Given the description of an element on the screen output the (x, y) to click on. 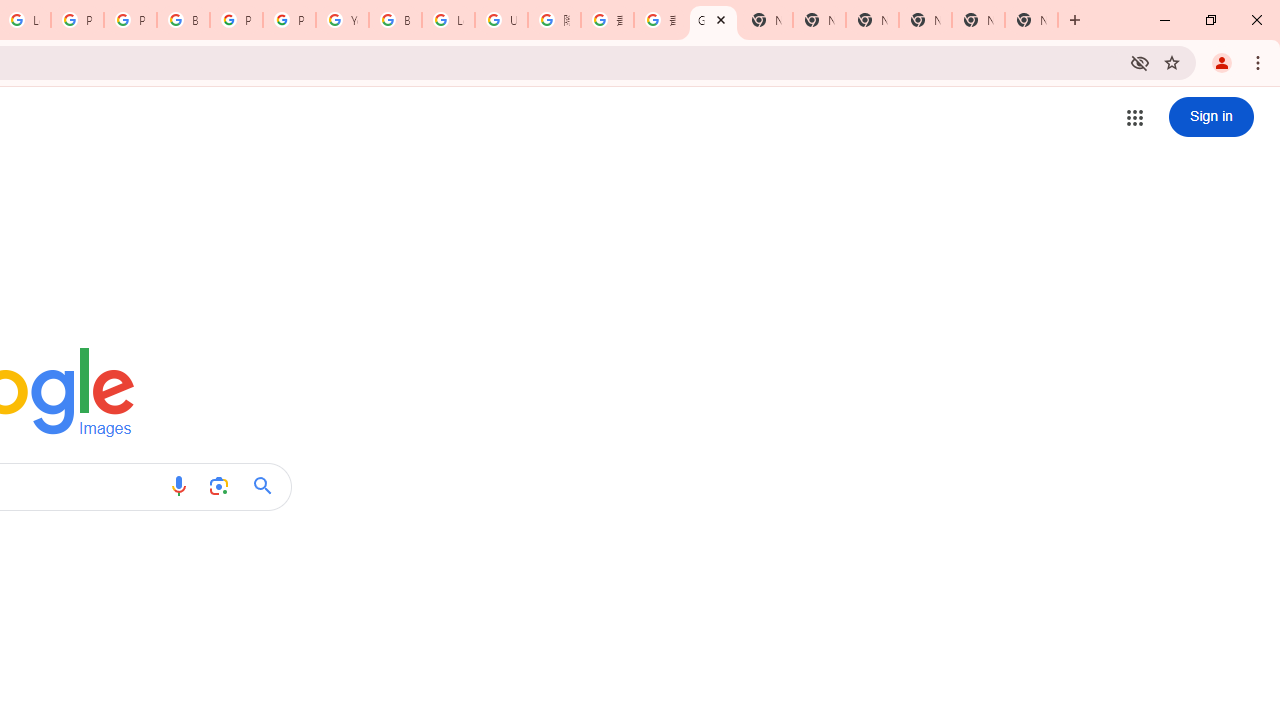
Privacy Help Center - Policies Help (130, 20)
New Tab (1031, 20)
Privacy Help Center - Policies Help (77, 20)
Google Search (268, 485)
